Given the description of an element on the screen output the (x, y) to click on. 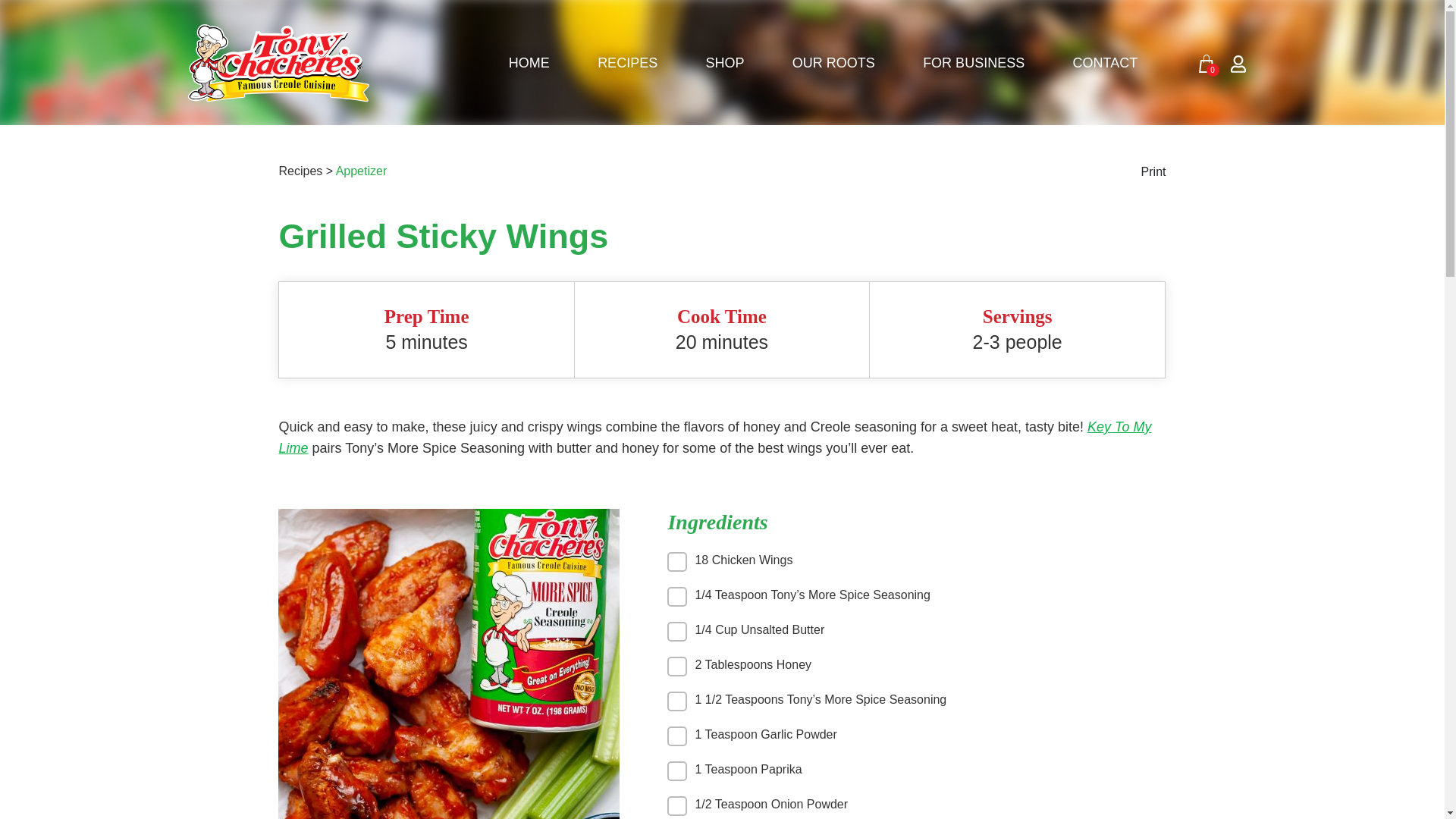
Our Roots (833, 62)
CONTACT (1104, 62)
SHOP (724, 62)
0 (1205, 63)
RECIPES (627, 62)
For Business (974, 62)
OUR ROOTS (833, 62)
Cart (1205, 63)
FOR BUSINESS (974, 62)
HOME (529, 62)
Shop (724, 62)
Home (529, 62)
Key To My Lime (714, 437)
Print (1153, 176)
Contact (1104, 62)
